Given the description of an element on the screen output the (x, y) to click on. 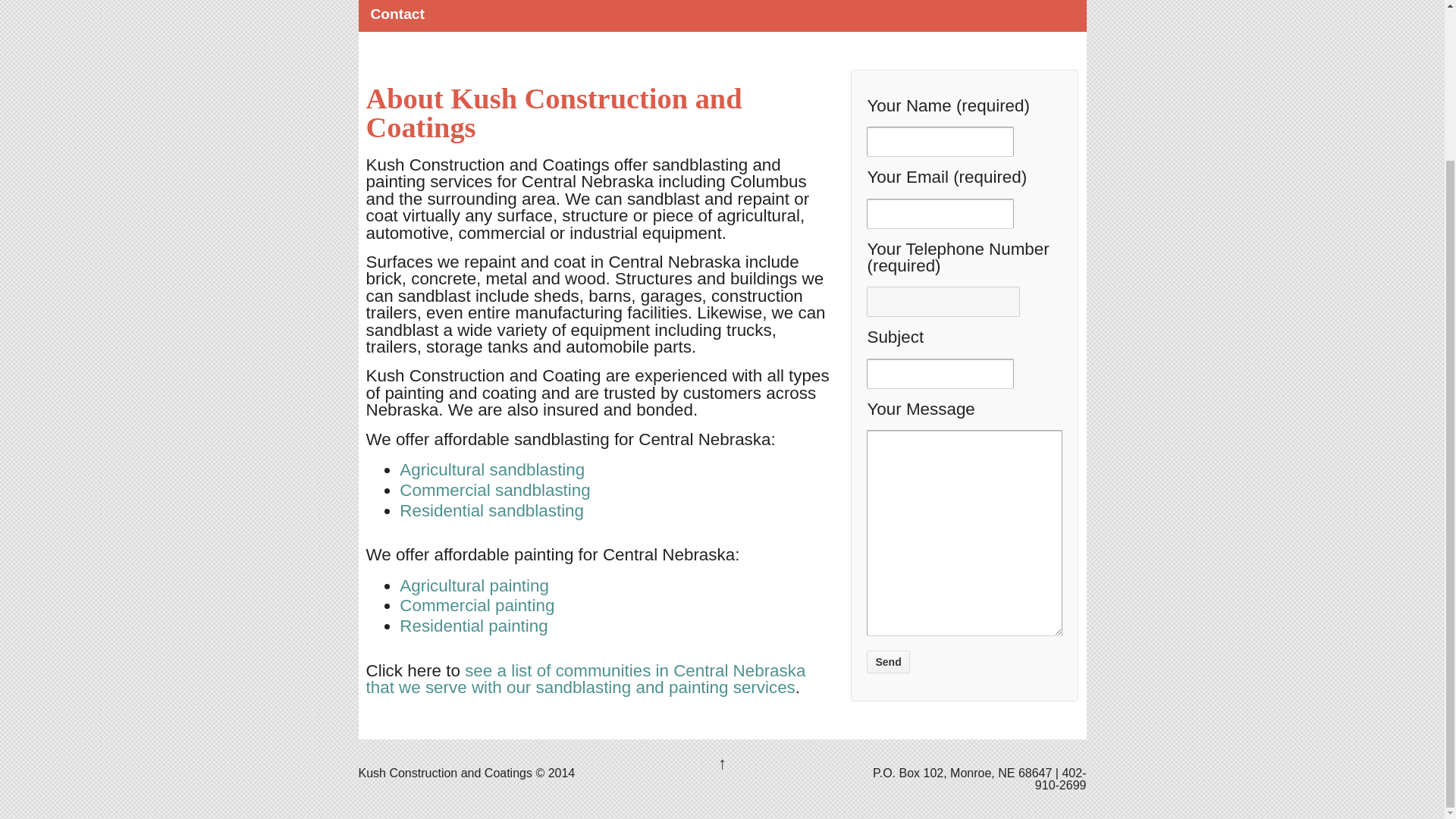
402-910-2699 (1060, 778)
Send (887, 661)
Agricultural (473, 585)
Agricultural sandblasting (491, 469)
Commercial sandblasting (493, 489)
Kush Construction and Coatings (444, 772)
Commercial painting (476, 605)
Agricultural painting (473, 585)
Areas Served (585, 678)
